Given the description of an element on the screen output the (x, y) to click on. 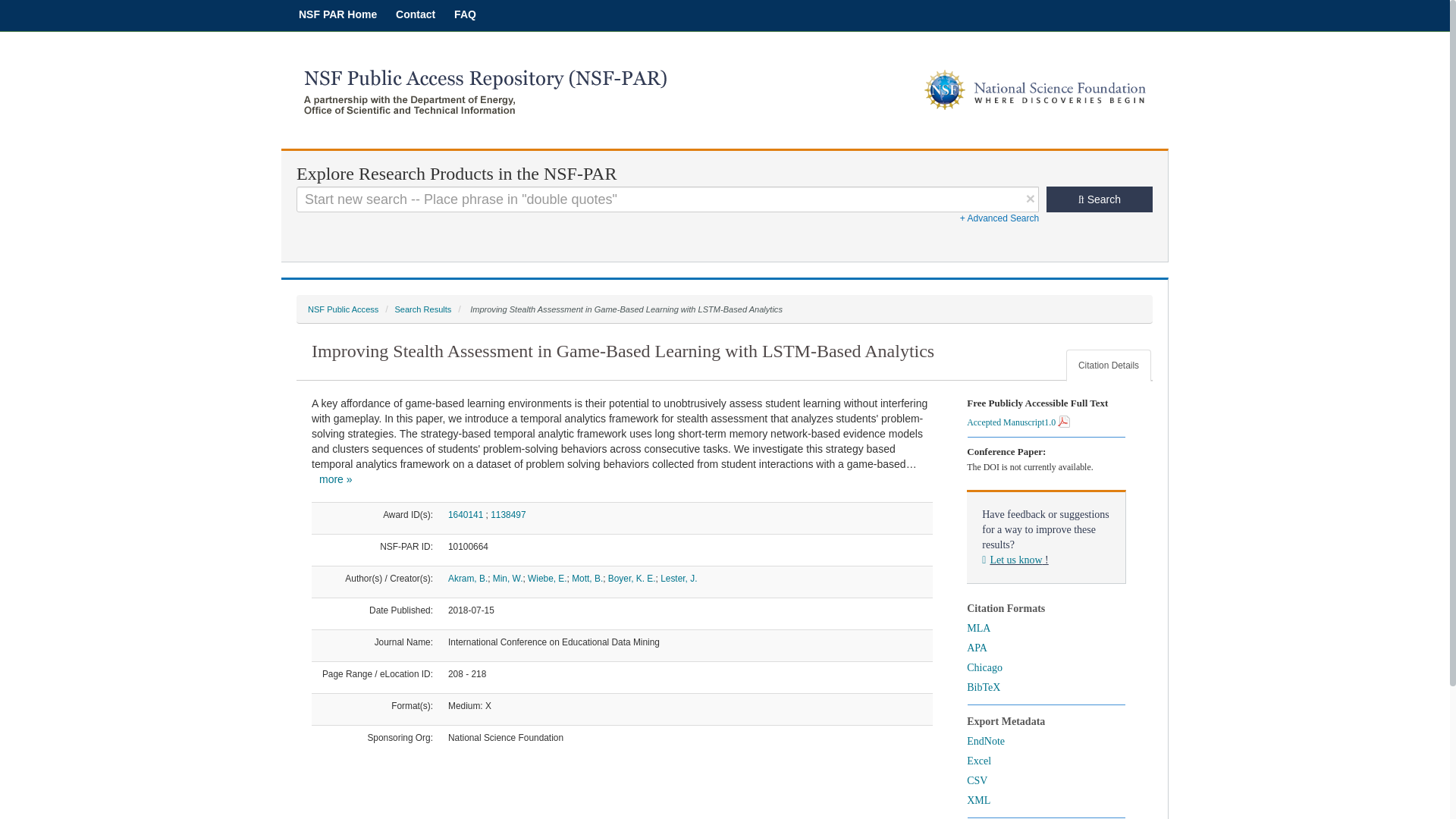
1640141 (465, 514)
NSF PAR FAQ (464, 14)
FAQ (464, 14)
NSF PAR Home (337, 14)
Contact (415, 14)
Search (1099, 199)
Akram, B. (467, 578)
Min, W. (507, 578)
NSF Public Access (342, 308)
Wiebe, E. (547, 578)
